Given the description of an element on the screen output the (x, y) to click on. 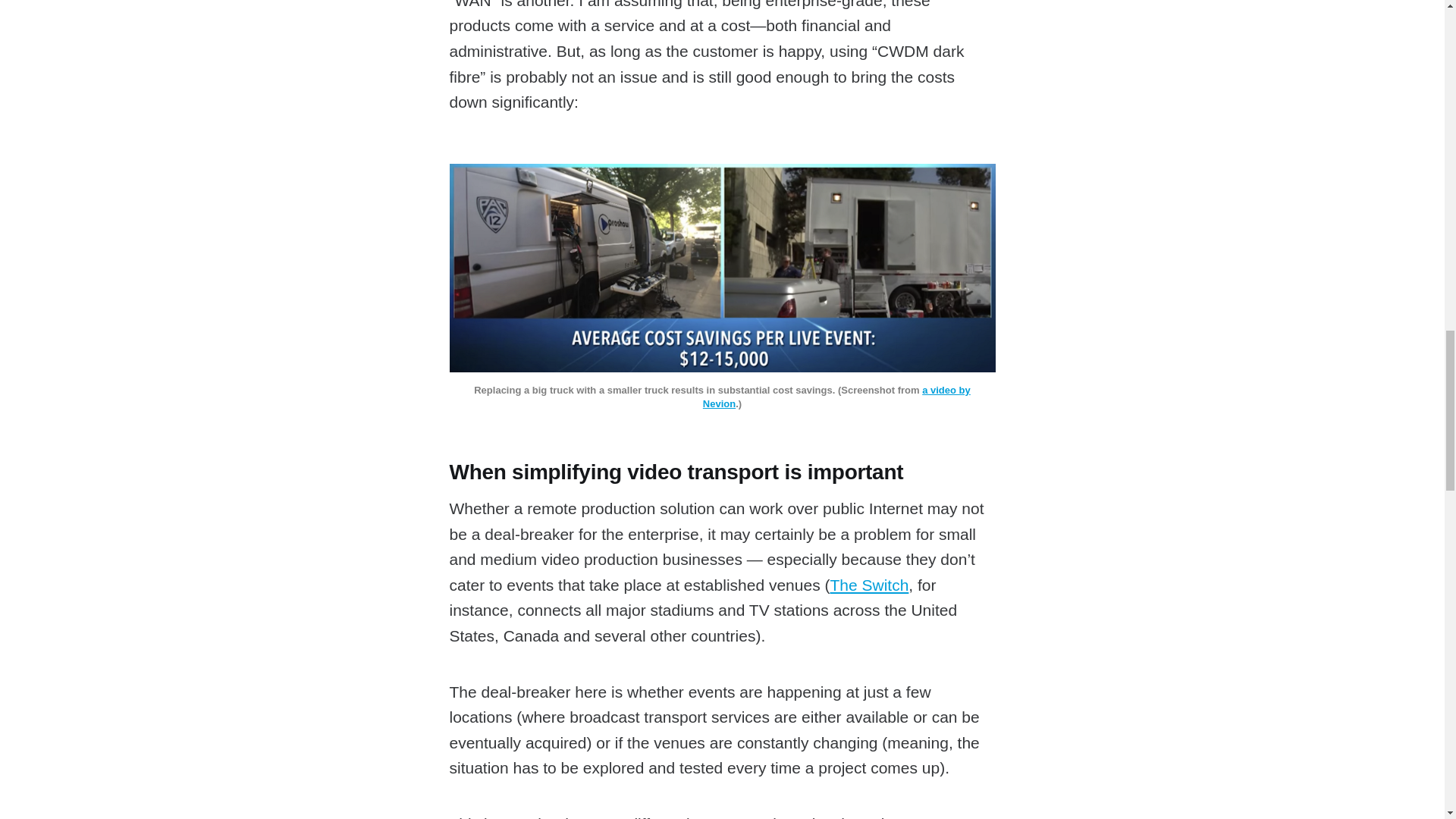
a video by Nevion (837, 396)
The Switch (868, 584)
